Given the description of an element on the screen output the (x, y) to click on. 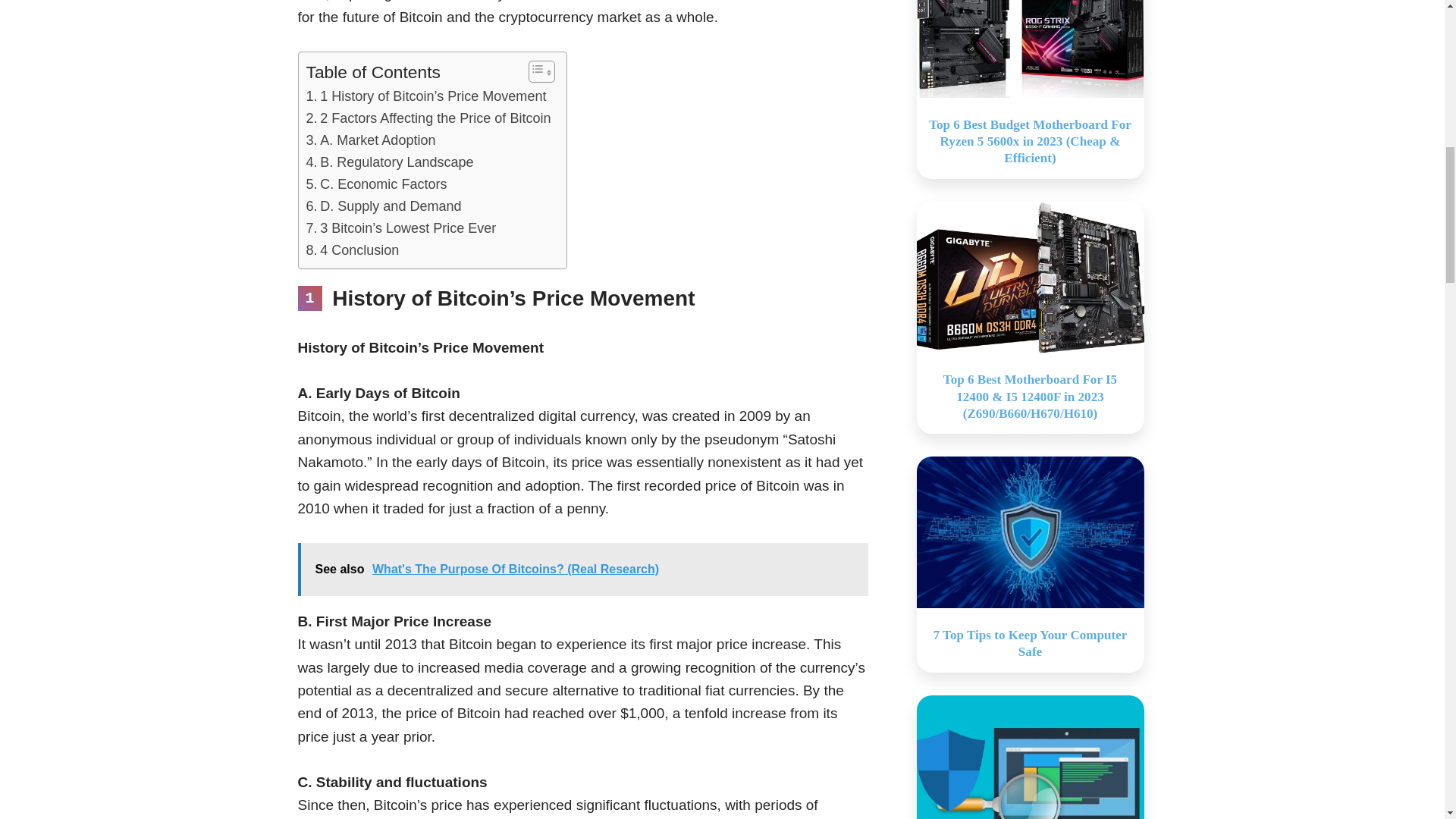
C. Economic Factors (375, 184)
D. Supply and Demand (383, 206)
7 Top Tips to Keep Your Computer Safe 11 (1028, 532)
4 Conclusion (351, 250)
A. Market Adoption (370, 140)
2 Factors Affecting the Price of Bitcoin (428, 118)
D. Supply and Demand (383, 206)
B. Regulatory Landscape (389, 162)
2 Factors Affecting the Price of Bitcoin (428, 118)
A. Market Adoption (370, 140)
C. Economic Factors (375, 184)
B. Regulatory Landscape (389, 162)
4 Conclusion (351, 250)
